Given the description of an element on the screen output the (x, y) to click on. 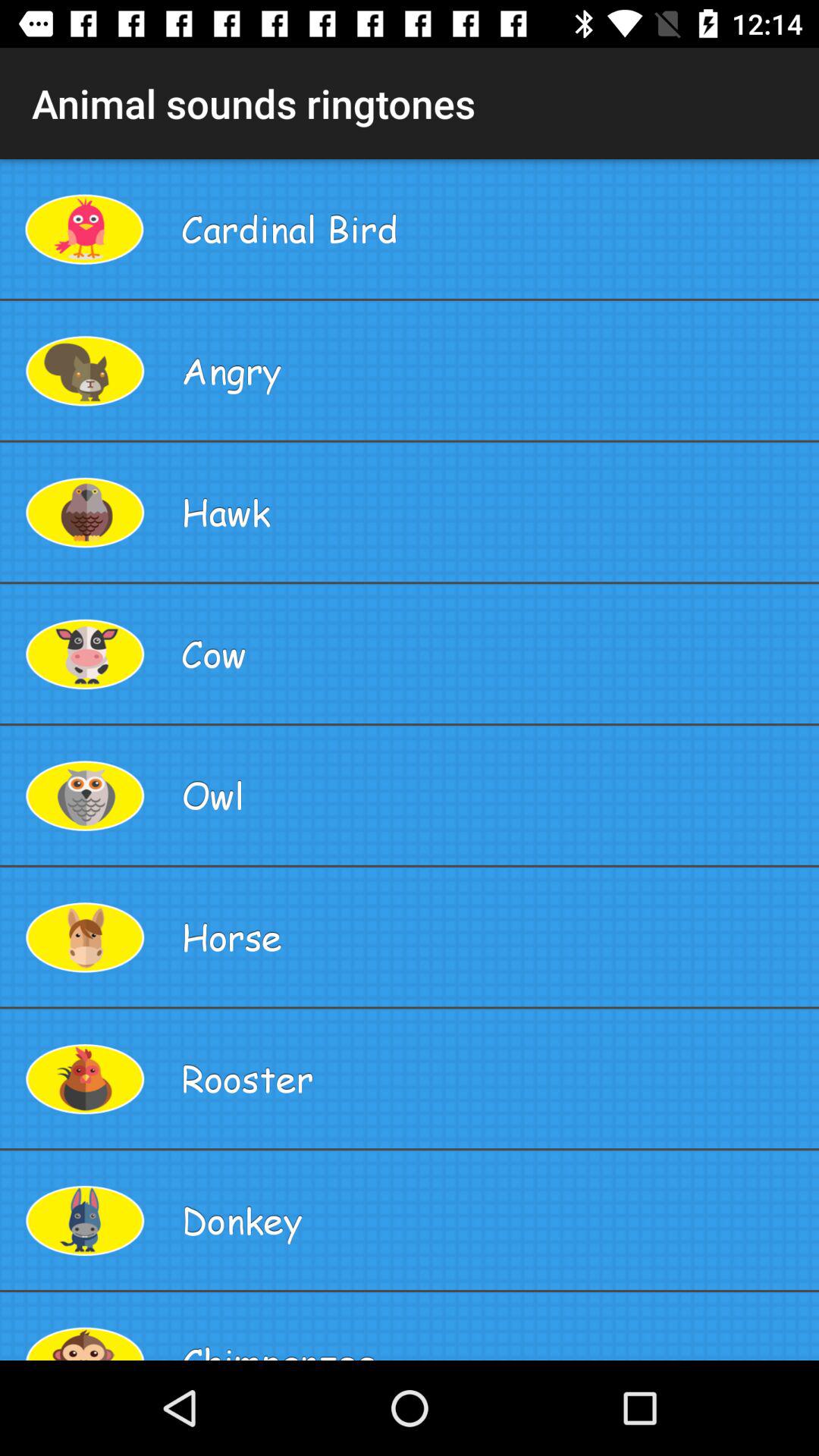
open the cow app (494, 653)
